Given the description of an element on the screen output the (x, y) to click on. 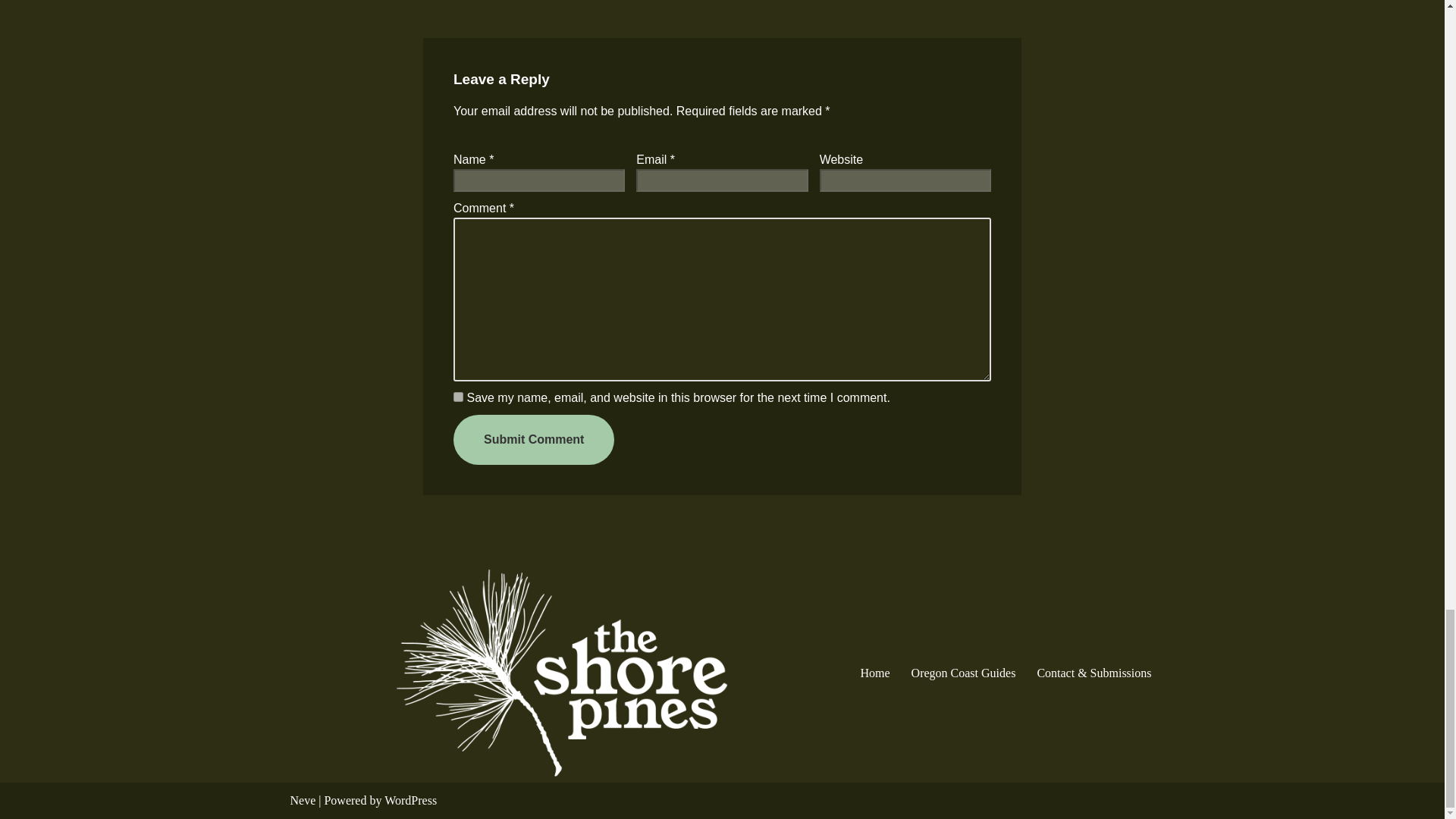
Home (874, 672)
WordPress (410, 799)
Neve (302, 799)
yes (457, 397)
Submit Comment (533, 439)
Oregon Coast Guides (963, 672)
Submit Comment (533, 439)
